Given the description of an element on the screen output the (x, y) to click on. 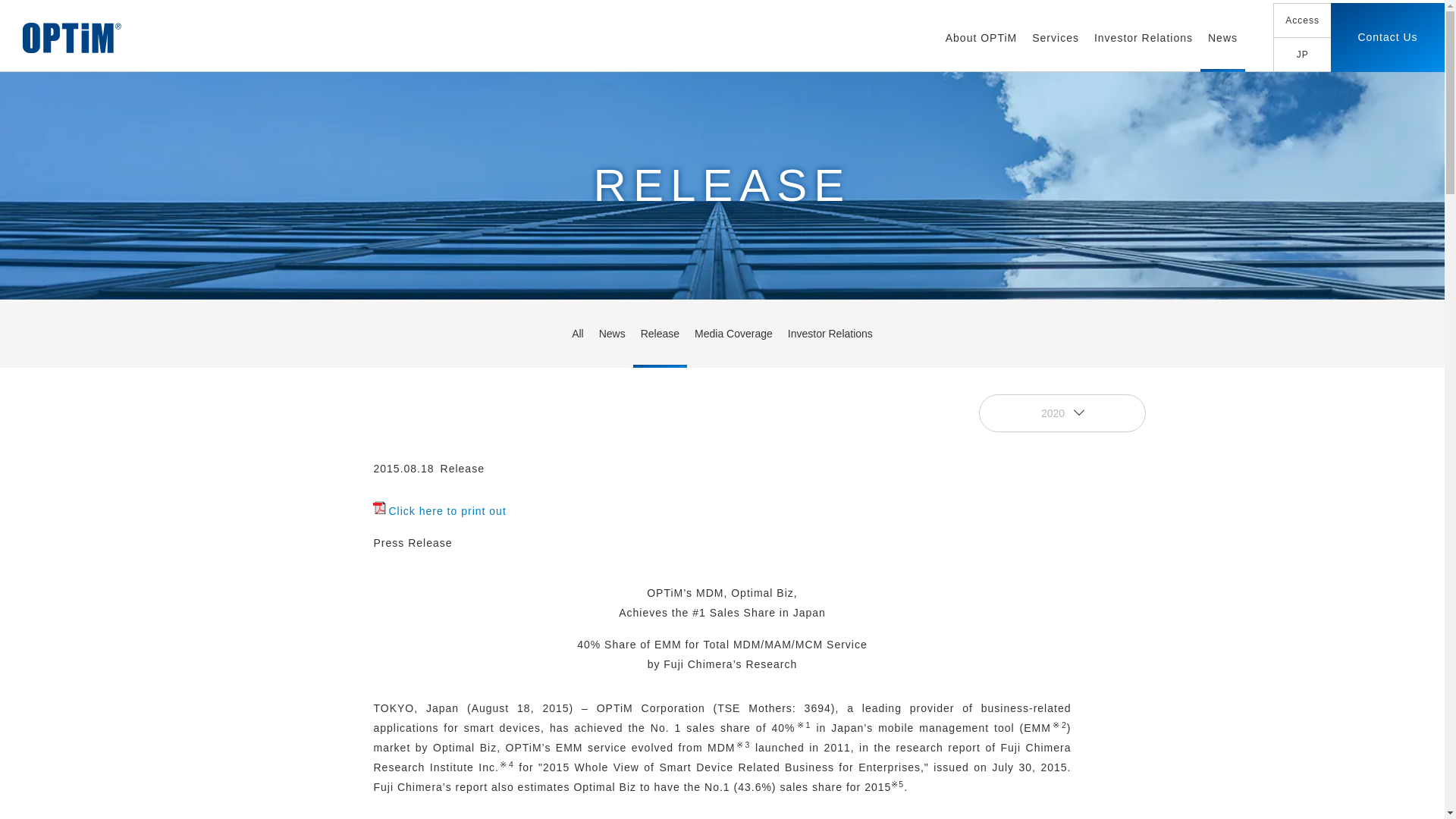
About OPTiM (981, 38)
OPTiM (71, 37)
Services (1055, 38)
Investor Relations (1142, 38)
